Given the description of an element on the screen output the (x, y) to click on. 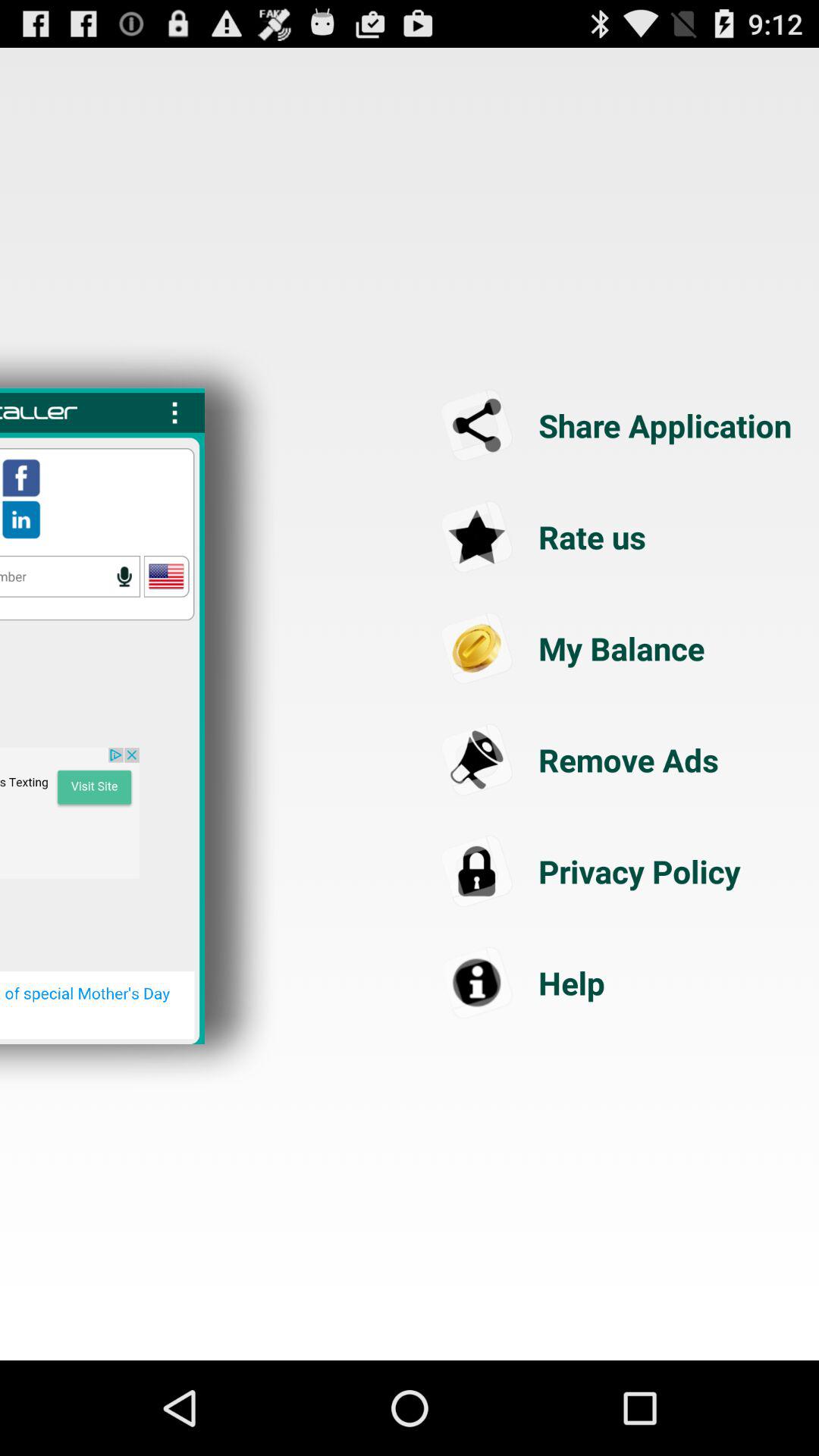
visit the site (69, 813)
